Given the description of an element on the screen output the (x, y) to click on. 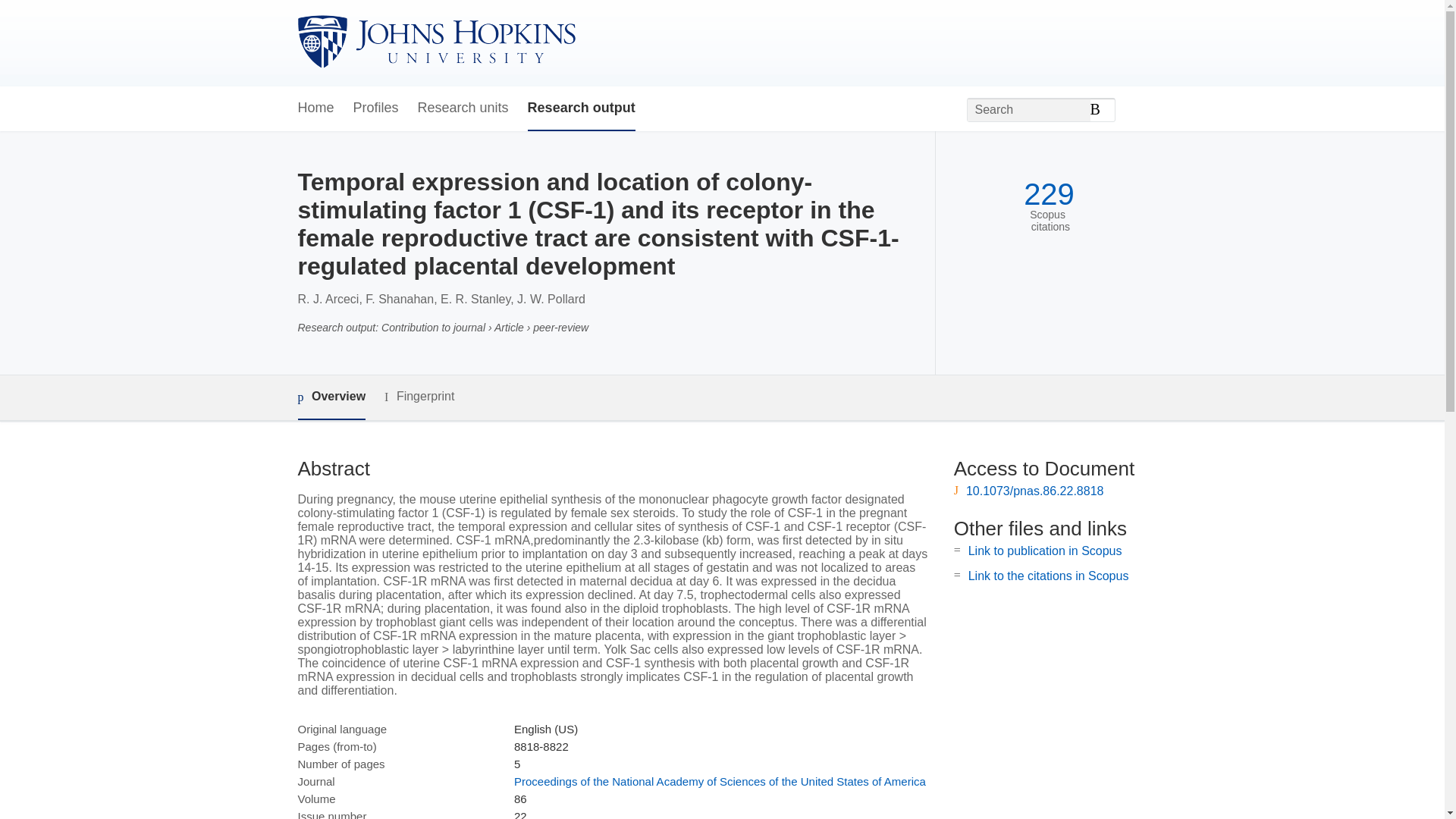
Link to the citations in Scopus (1048, 575)
Johns Hopkins University Home (436, 43)
Research units (462, 108)
Link to publication in Scopus (1045, 550)
Profiles (375, 108)
Overview (331, 397)
Fingerprint (419, 396)
Research output (580, 108)
